Given the description of an element on the screen output the (x, y) to click on. 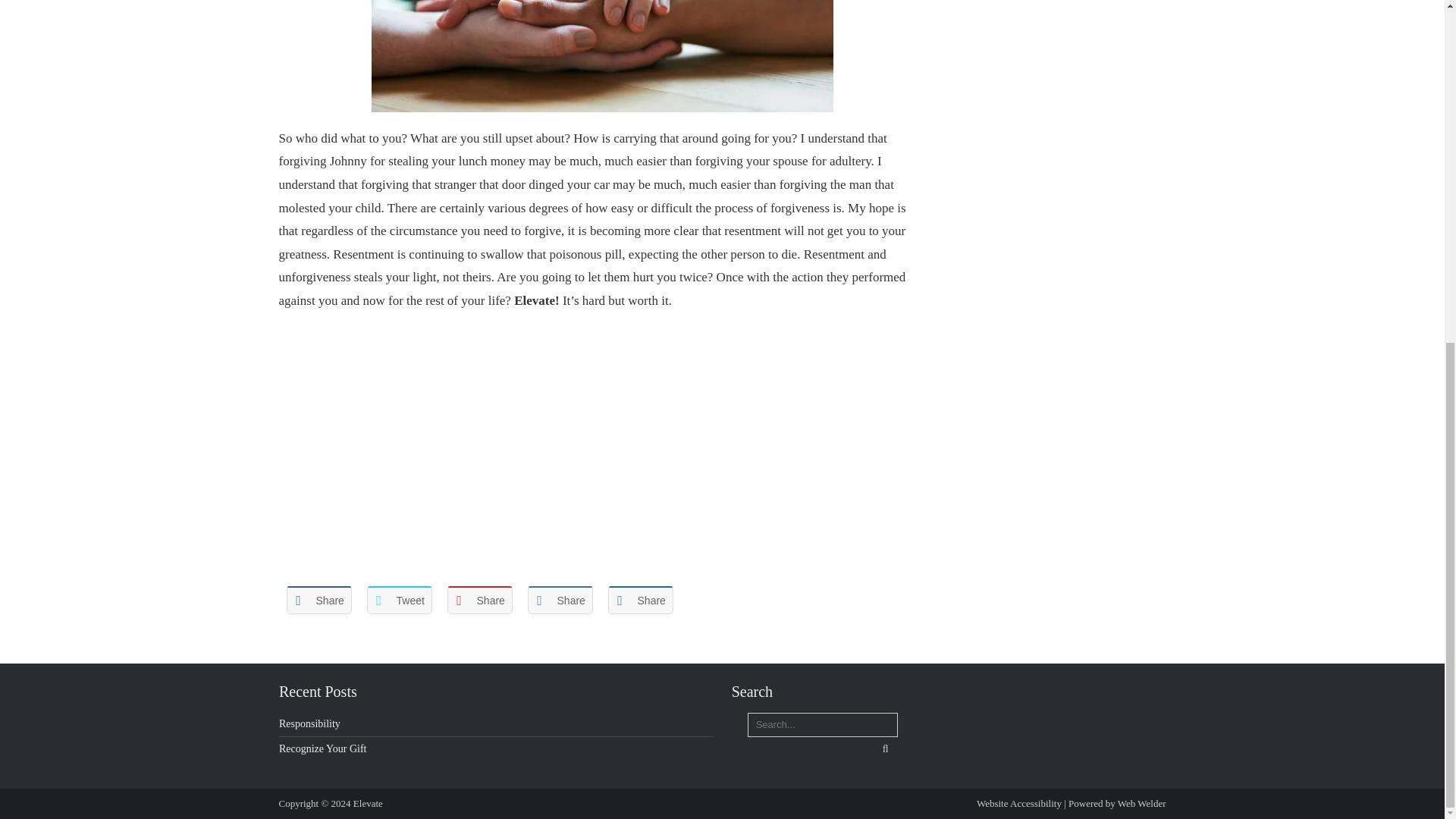
Share on Twitter (399, 599)
Share (479, 599)
Share (640, 599)
Share (559, 599)
Elevate (367, 803)
Tweet (399, 599)
Share on LinkedIn (559, 599)
Share on Digg (640, 599)
Responsibility (309, 723)
Share (319, 599)
Web Welder (1142, 803)
Recognize Your Gift (322, 748)
Share on Pinterest (479, 599)
Website Accessibility (1020, 803)
Share on Facebook (319, 599)
